Given the description of an element on the screen output the (x, y) to click on. 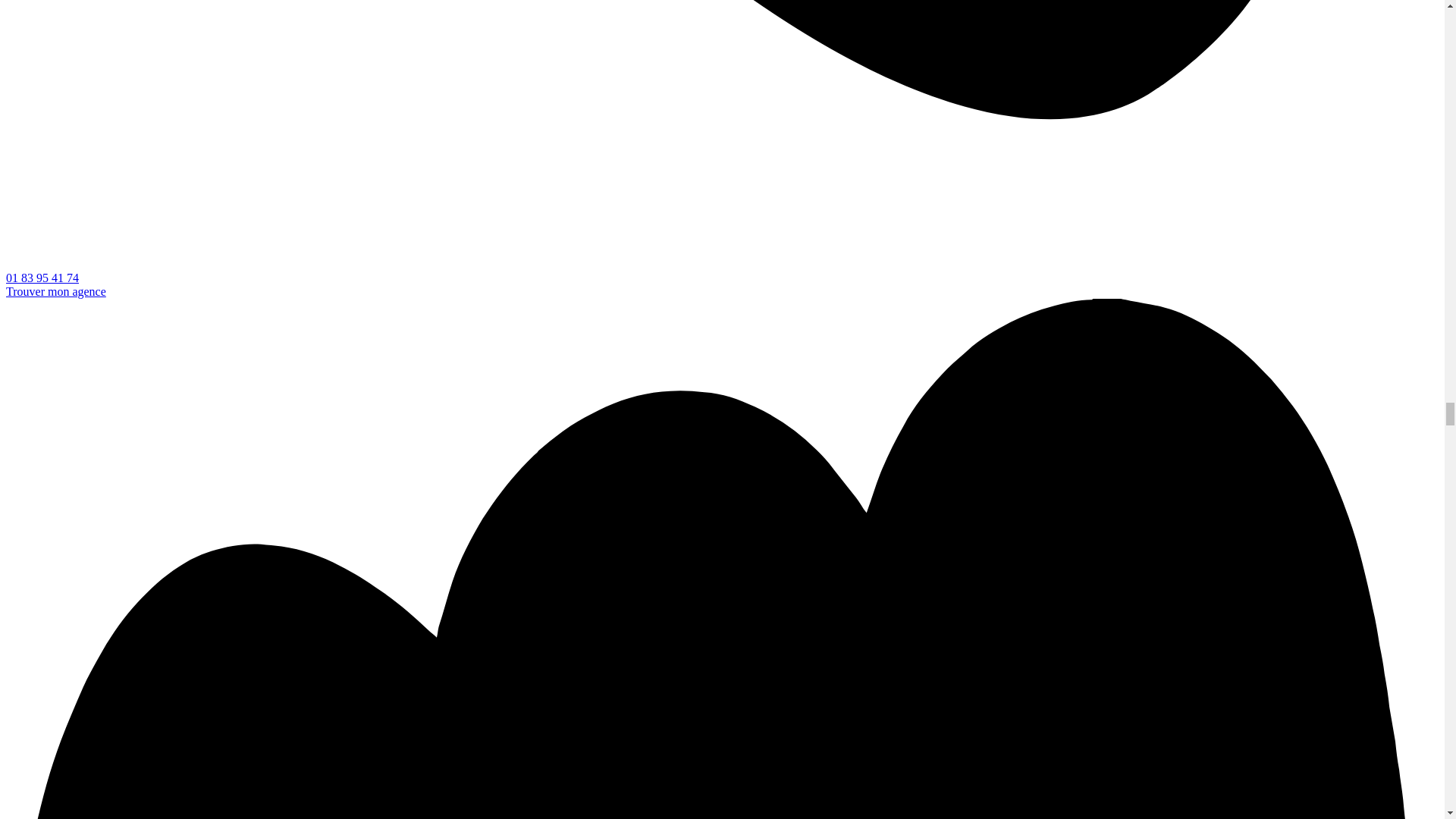
Trouver mon agence (55, 291)
